Given the description of an element on the screen output the (x, y) to click on. 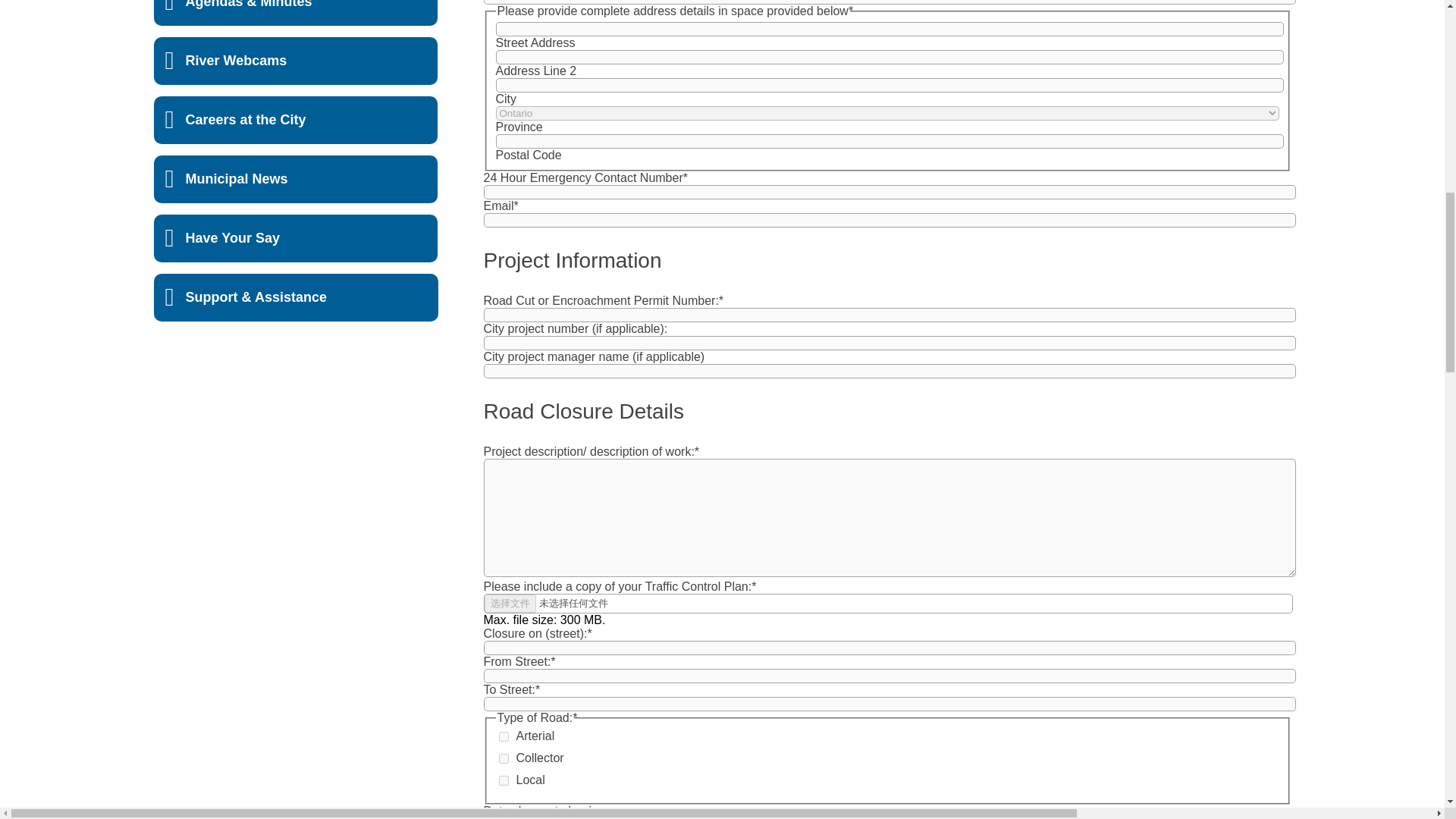
Local (503, 780)
Arterial (503, 737)
Collector (503, 758)
